Given the description of an element on the screen output the (x, y) to click on. 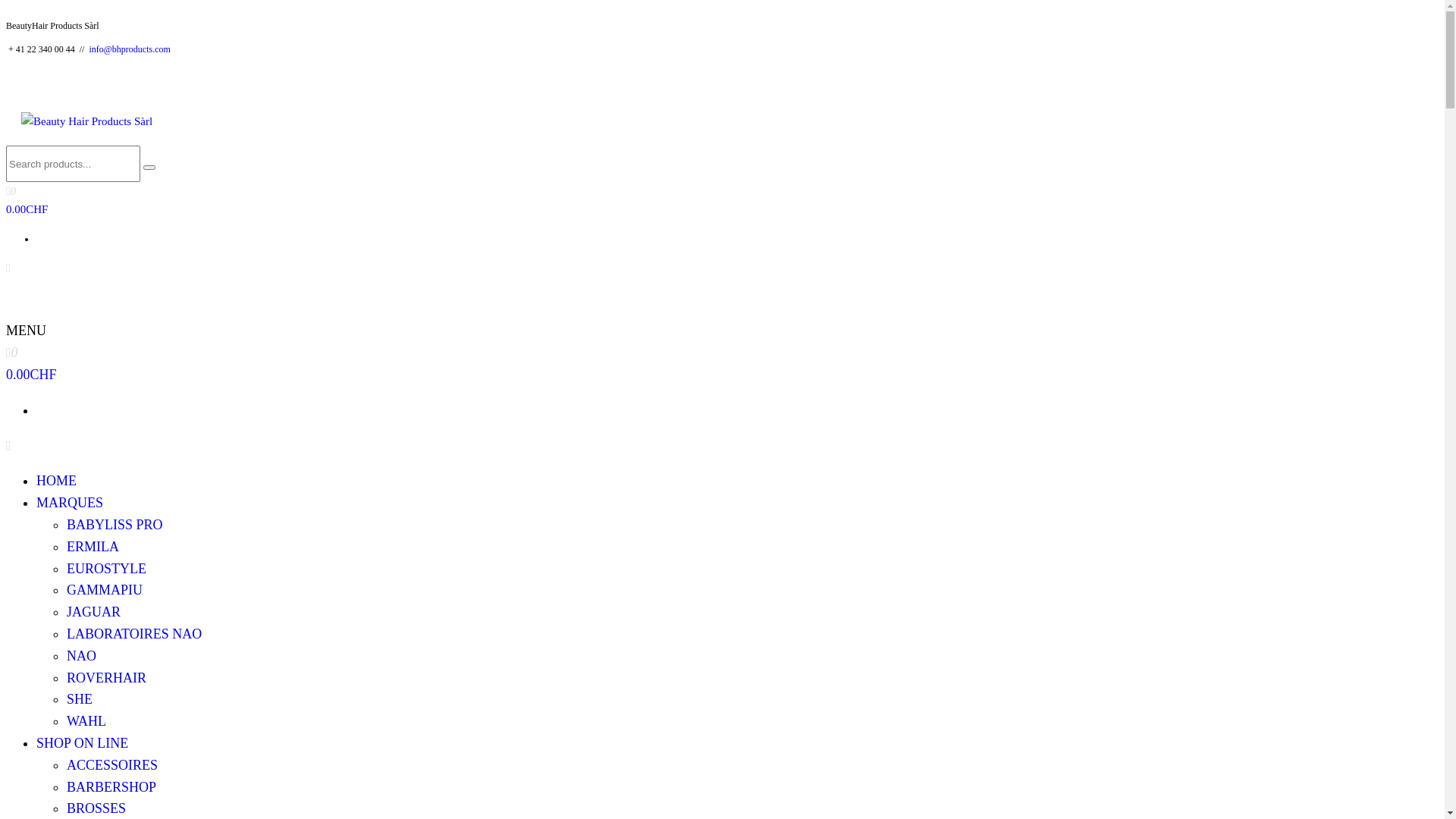
EUROSTYLE Element type: text (106, 568)
MARQUES Element type: text (69, 502)
ERMILA Element type: text (92, 546)
LABORATOIRES NAO Element type: text (133, 633)
ACCESSOIRES Element type: text (111, 764)
SHE Element type: text (79, 698)
SHOP ON LINE Element type: text (82, 742)
HOME Element type: text (56, 480)
0
0.00CHF Element type: text (722, 201)
JAGUAR Element type: text (93, 611)
GAMMAPIU Element type: text (104, 589)
BABYLISS PRO Element type: text (114, 524)
ROVERHAIR Element type: text (106, 677)
Aller au contenu Element type: text (5, 5)
Mon compte Element type: hover (7, 268)
NAO Element type: text (81, 655)
info@bhproducts.com Element type: text (128, 48)
0
0.00CHF Element type: text (722, 365)
WAHL Element type: text (86, 720)
BROSSES Element type: text (95, 807)
Mon compte Element type: hover (8, 445)
BARBERSHOP Element type: text (111, 786)
